Given the description of an element on the screen output the (x, y) to click on. 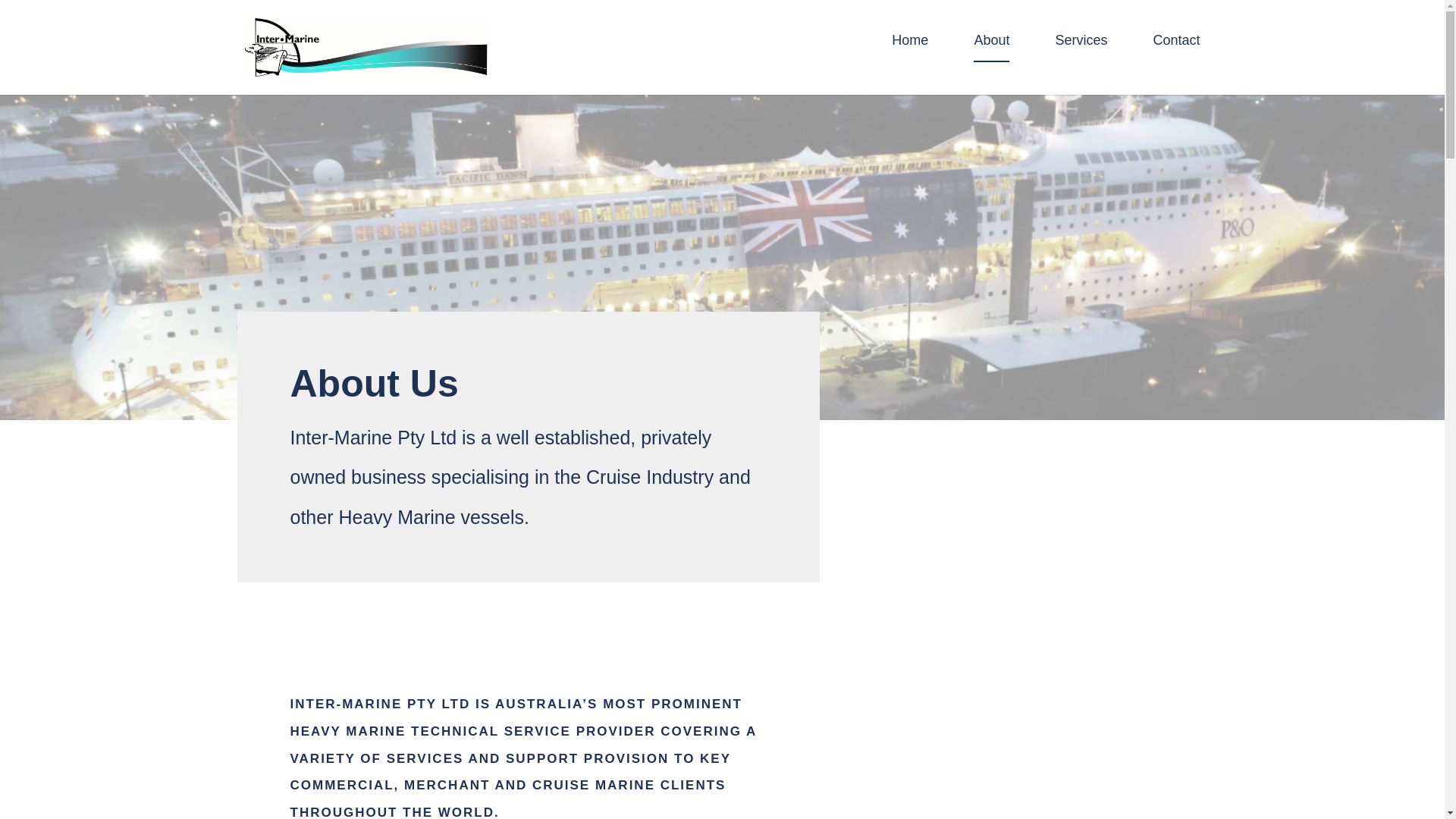
Home (909, 47)
Services (1080, 47)
Contact (1176, 47)
About (991, 47)
